Given the description of an element on the screen output the (x, y) to click on. 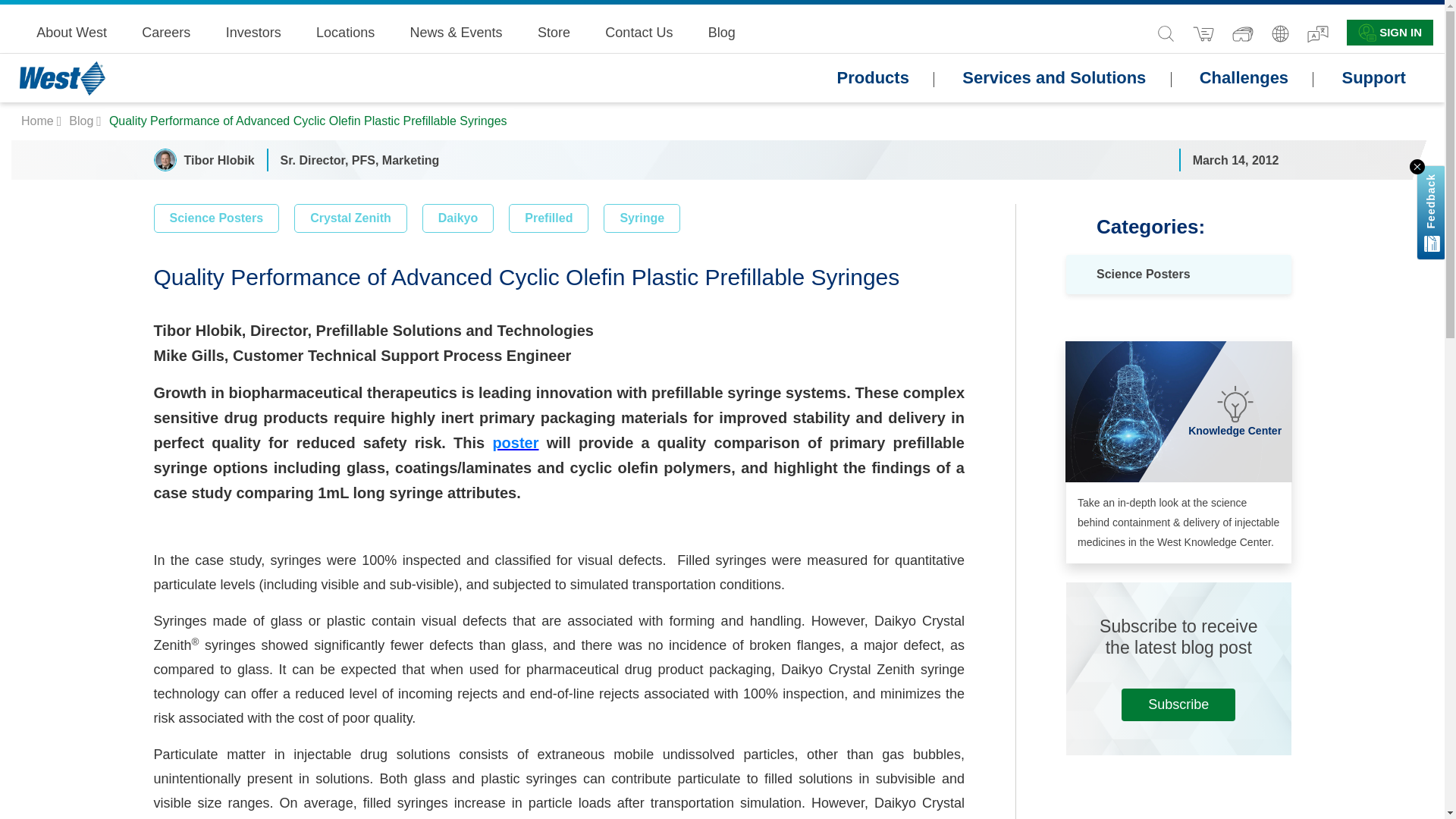
Home (38, 120)
Services and Solutions (1053, 78)
Crystal Zenith (350, 217)
Careers (165, 32)
Science Posters (215, 217)
Locations (344, 32)
Prefilled (548, 217)
Contact Us (639, 32)
WestPharma (38, 120)
